Given the description of an element on the screen output the (x, y) to click on. 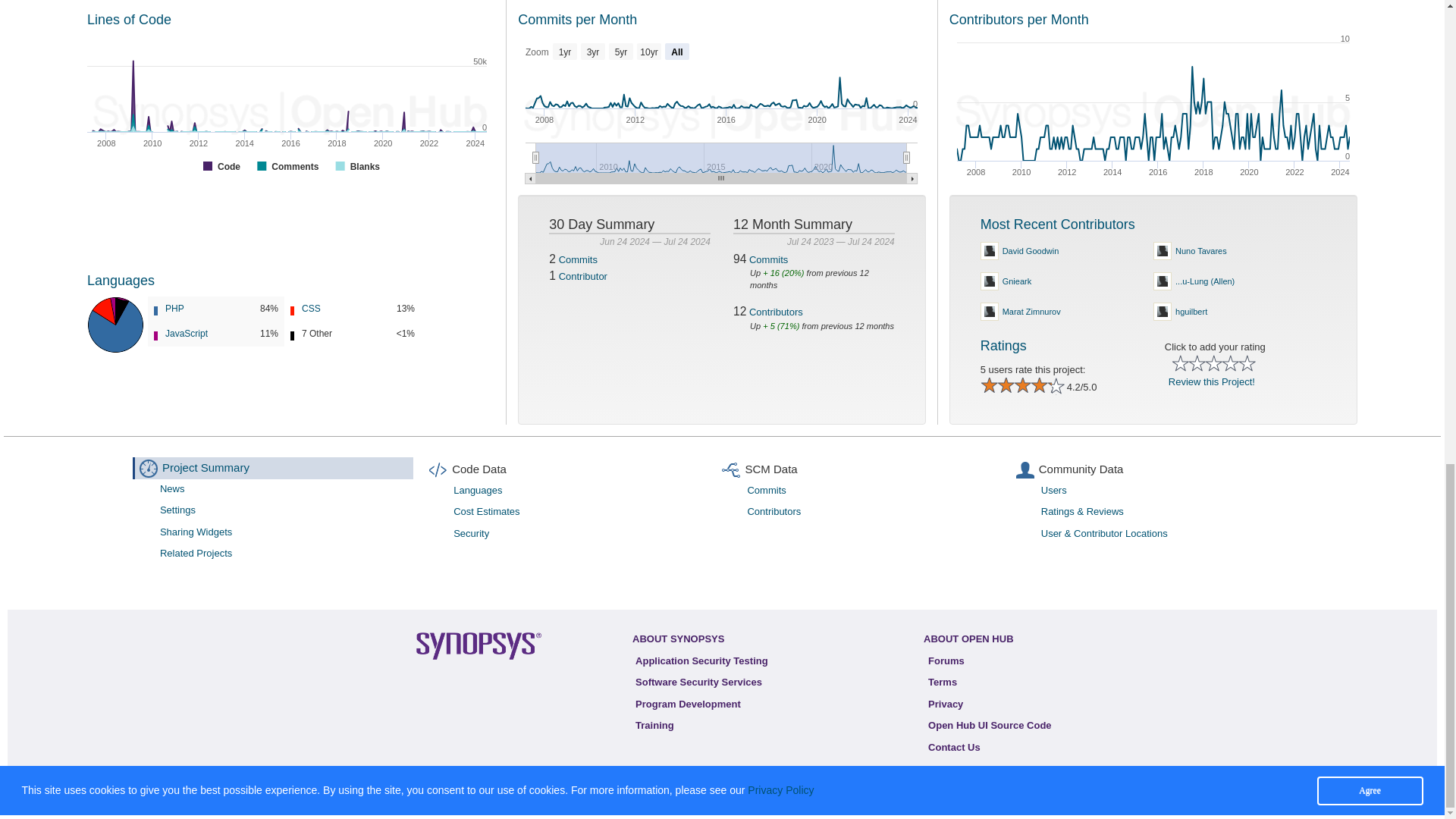
David Goodwin (1152, 111)
hguilbert (1075, 250)
Marat Zimnurov (1249, 311)
Nuno Tavares (1075, 311)
Gnieark (1249, 250)
